Given the description of an element on the screen output the (x, y) to click on. 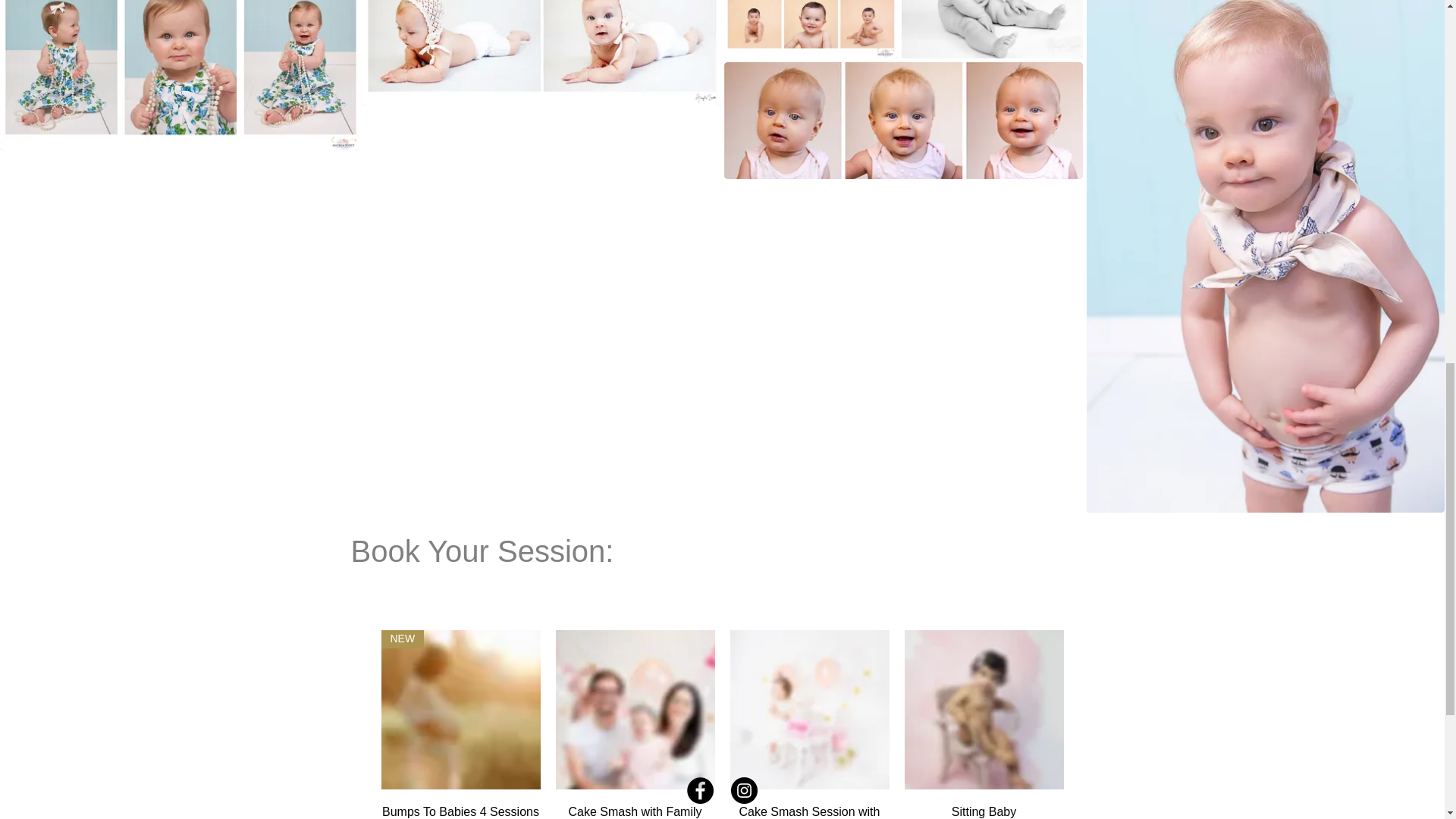
NEW (460, 709)
